Given the description of an element on the screen output the (x, y) to click on. 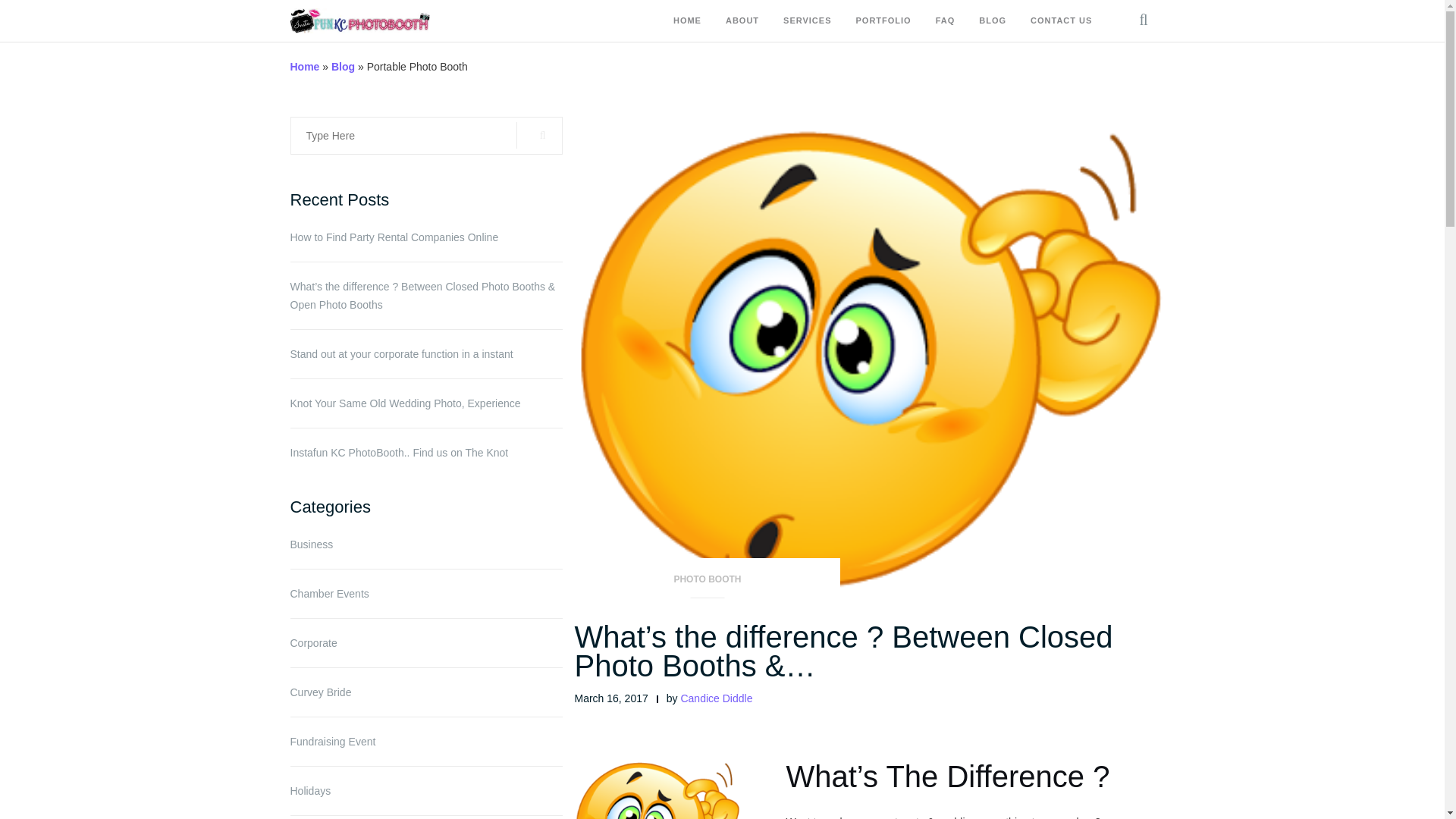
Search (539, 135)
Stand out at your corporate function in a instant (425, 353)
Search (1129, 72)
Business (311, 544)
How to Find Party Rental Companies Online (425, 237)
Chamber Events (328, 593)
SERVICES (807, 21)
Services (807, 21)
Candice Diddle (715, 697)
